Given the description of an element on the screen output the (x, y) to click on. 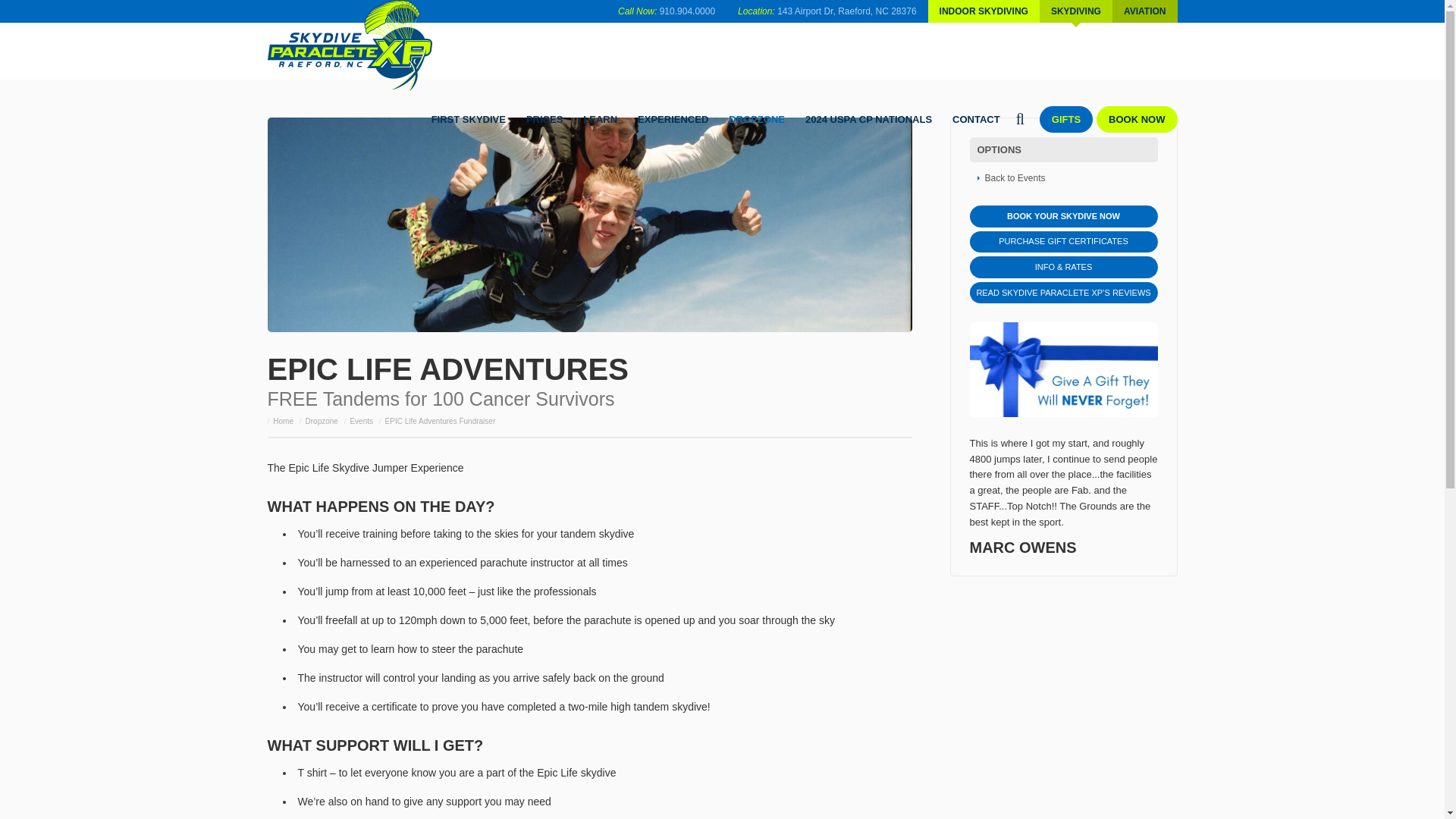
Location: 143 Airport Dr, Raeford, NC 28376 (826, 11)
EXPERIENCED (672, 119)
DROPZONE (756, 119)
SKYDIVING (1075, 11)
Skydive Paraclete XP (353, 45)
LEARN (600, 119)
INDOOR SKYDIVING (983, 11)
FIRST SKYDIVE (468, 119)
Go to Dropzone. (321, 420)
Go to EPIC Life Adventures Fundraiser. (440, 420)
Go to Skydive Paraclete XP. (283, 420)
2024 USPA CP NATIONALS (868, 119)
AVIATION (1144, 11)
PRICES (544, 119)
Go to Events. (360, 420)
